Given the description of an element on the screen output the (x, y) to click on. 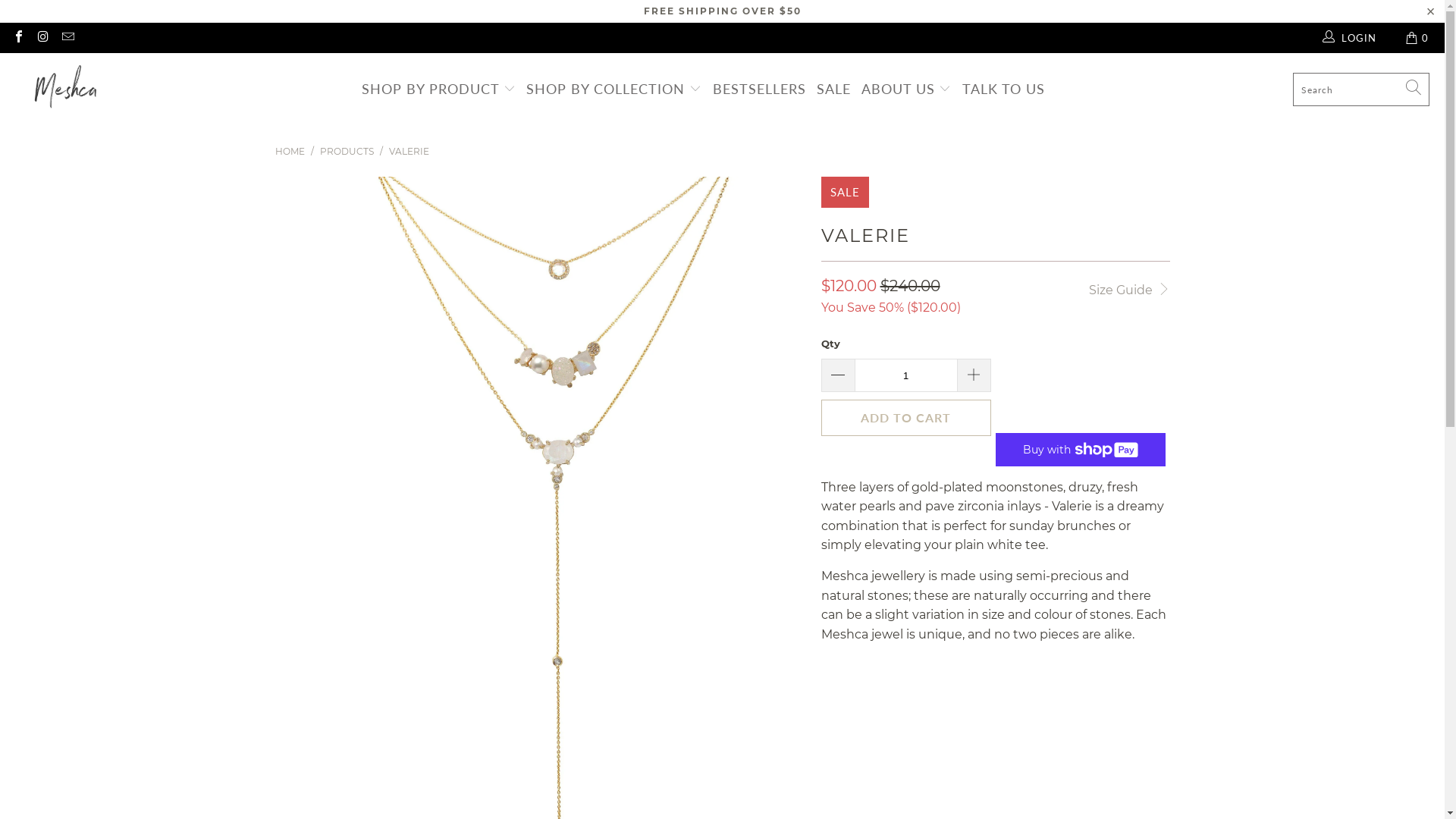
Email Meshca  Element type: hover (67, 37)
ADD TO CART Element type: text (905, 417)
BESTSELLERS Element type: text (759, 89)
PRODUCTS Element type: text (346, 150)
Size Guide Element type: text (1128, 288)
HOME Element type: text (289, 150)
VALERIE Element type: text (408, 150)
SHOP BY COLLECTION Element type: text (613, 89)
Meshca  Element type: hover (64, 89)
LOGIN Element type: text (1350, 37)
0 Element type: text (1417, 37)
Meshca  on Instagram Element type: hover (42, 37)
SALE Element type: text (833, 89)
More payment options Element type: text (1080, 445)
TALK TO US Element type: text (1003, 89)
ABOUT US Element type: text (906, 89)
Meshca  on Facebook Element type: hover (18, 37)
SHOP BY PRODUCT Element type: text (438, 89)
